Given the description of an element on the screen output the (x, y) to click on. 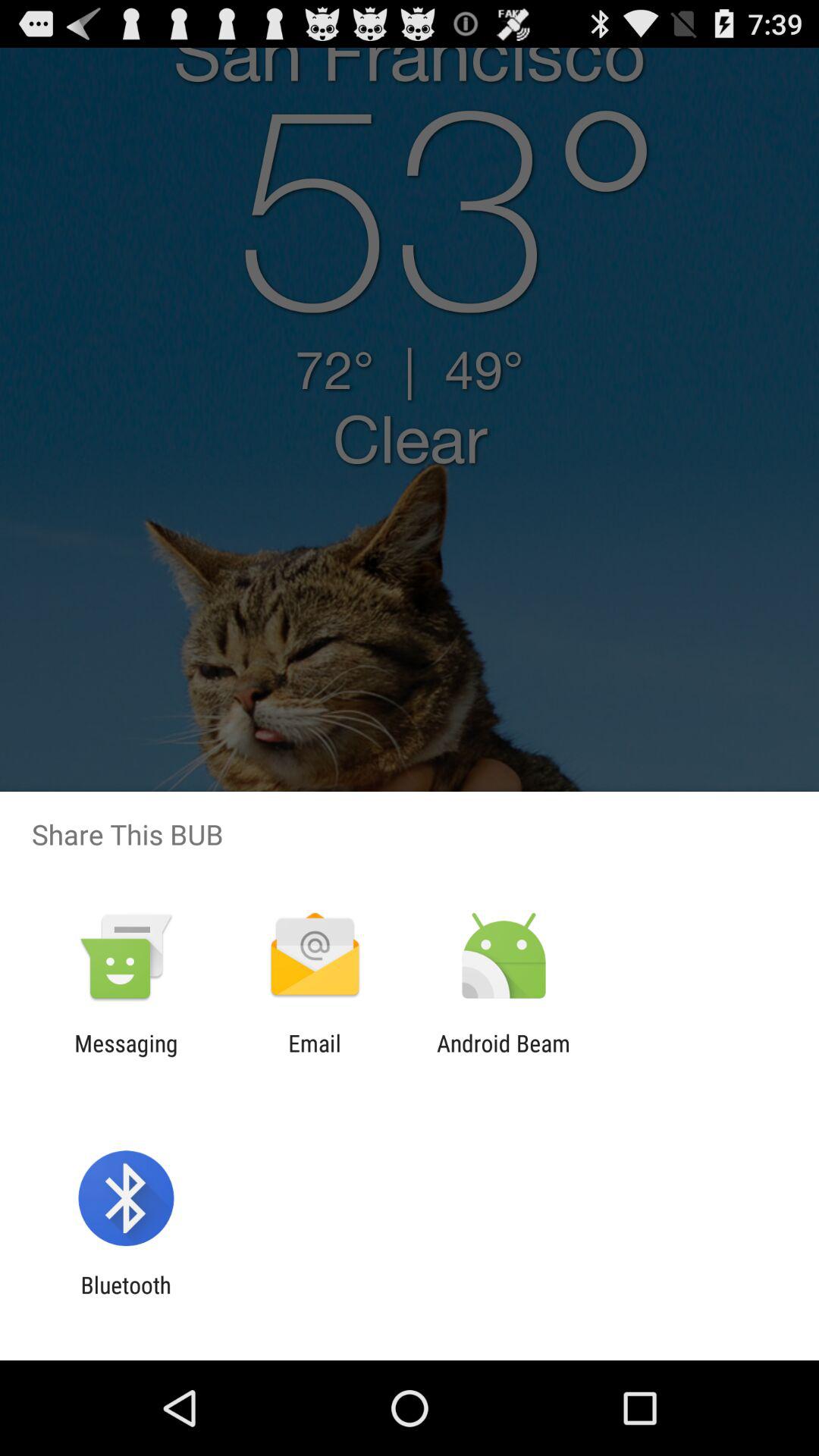
select the app next to the android beam (314, 1056)
